Given the description of an element on the screen output the (x, y) to click on. 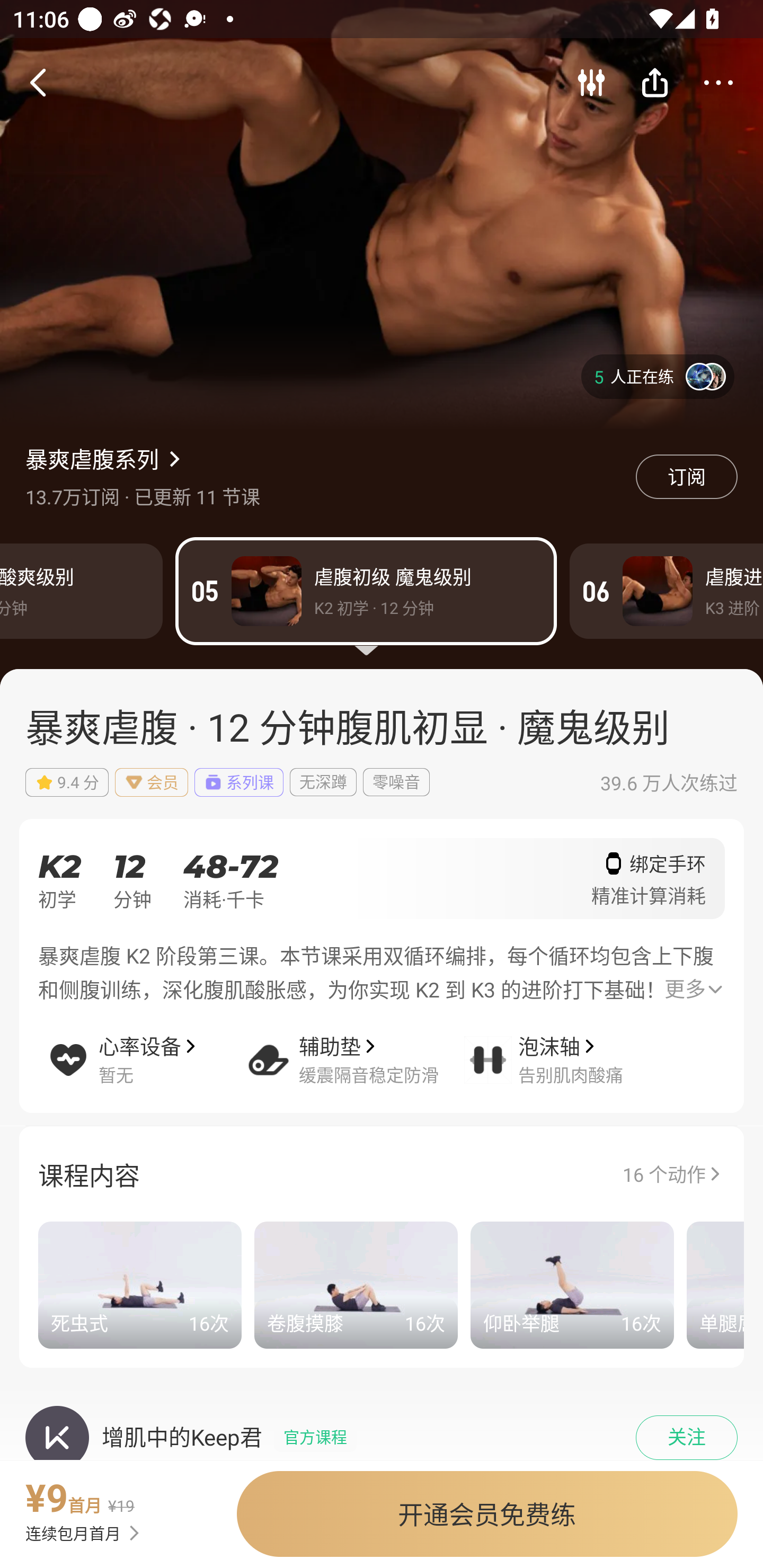
5 人正在练 (657, 376)
暴爽虐腹系列 (91, 458)
订阅 (686, 476)
05 虐腹初级 魔鬼级别 K2 初学 · 12 分钟 (365, 590)
06 虐腹进阶 酸爽级别 K3 进阶 · 9 分钟 (666, 591)
绑定手环 精准计算消耗 (648, 884)
更多 (692, 988)
心率设备 暂无 (144, 1047)
辅助垫 缓震隔音稳定防滑 (353, 1047)
泡沫轴 告别肌肉酸痛 (563, 1047)
课程内容 16 个动作 (381, 1173)
增肌中的Keep君 官方课程 关注 (381, 1420)
关注 (686, 1437)
¥9 首月 ¥19 连续包月首月 (110, 1507)
